Given the description of an element on the screen output the (x, y) to click on. 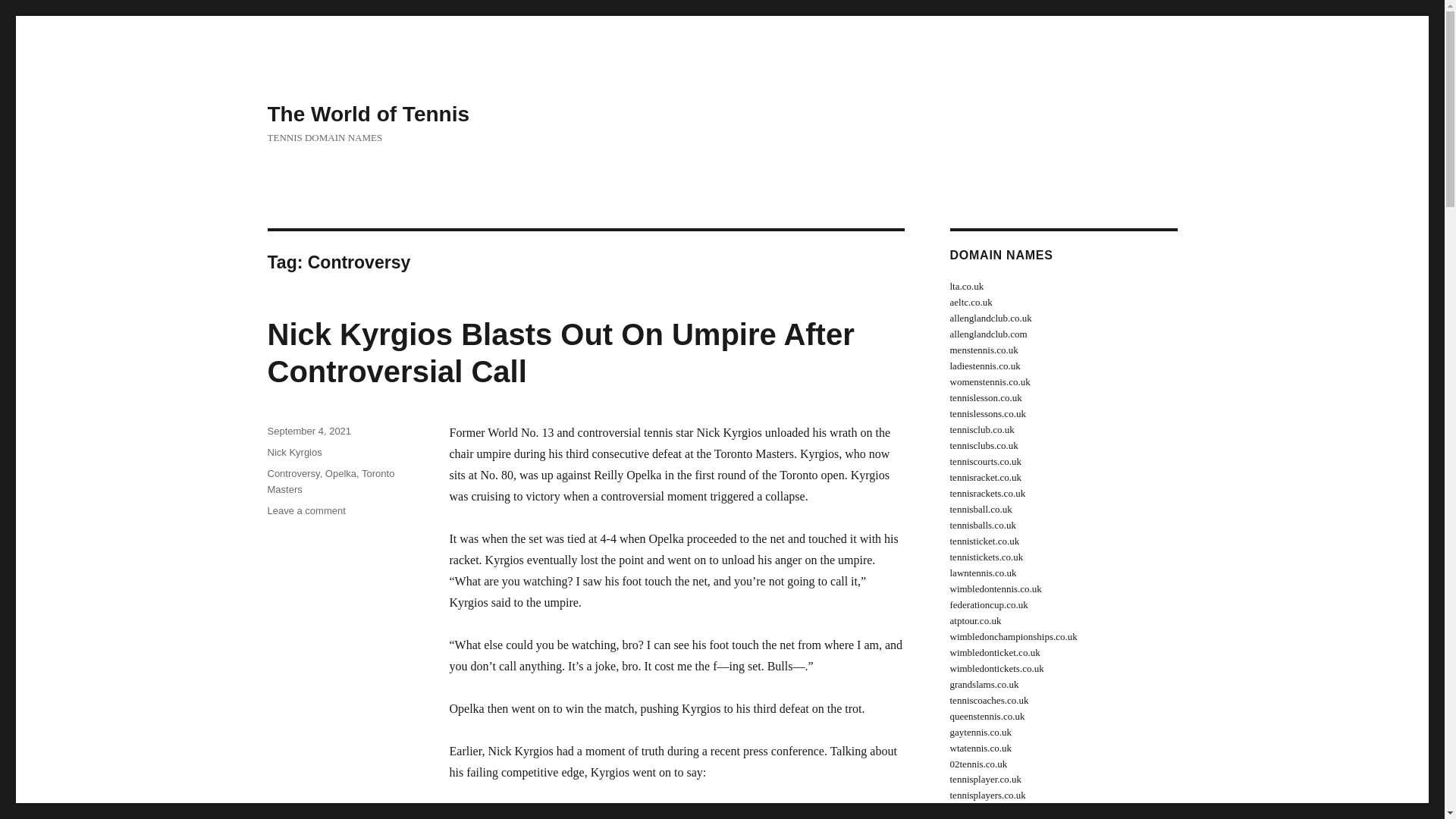
Nick Kyrgios Blasts Out On Umpire After Controversial Call (559, 352)
September 4, 2021 (308, 430)
Controversy (292, 473)
Toronto Masters (330, 481)
Nick Kyrgios (293, 451)
The World of Tennis (367, 114)
Opelka (340, 473)
